Given the description of an element on the screen output the (x, y) to click on. 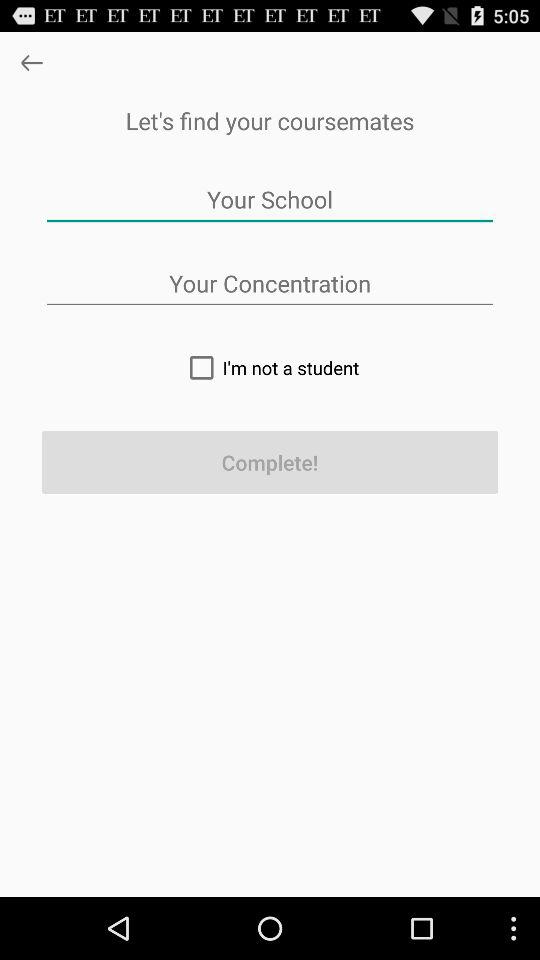
turn on the item at the top left corner (31, 62)
